Given the description of an element on the screen output the (x, y) to click on. 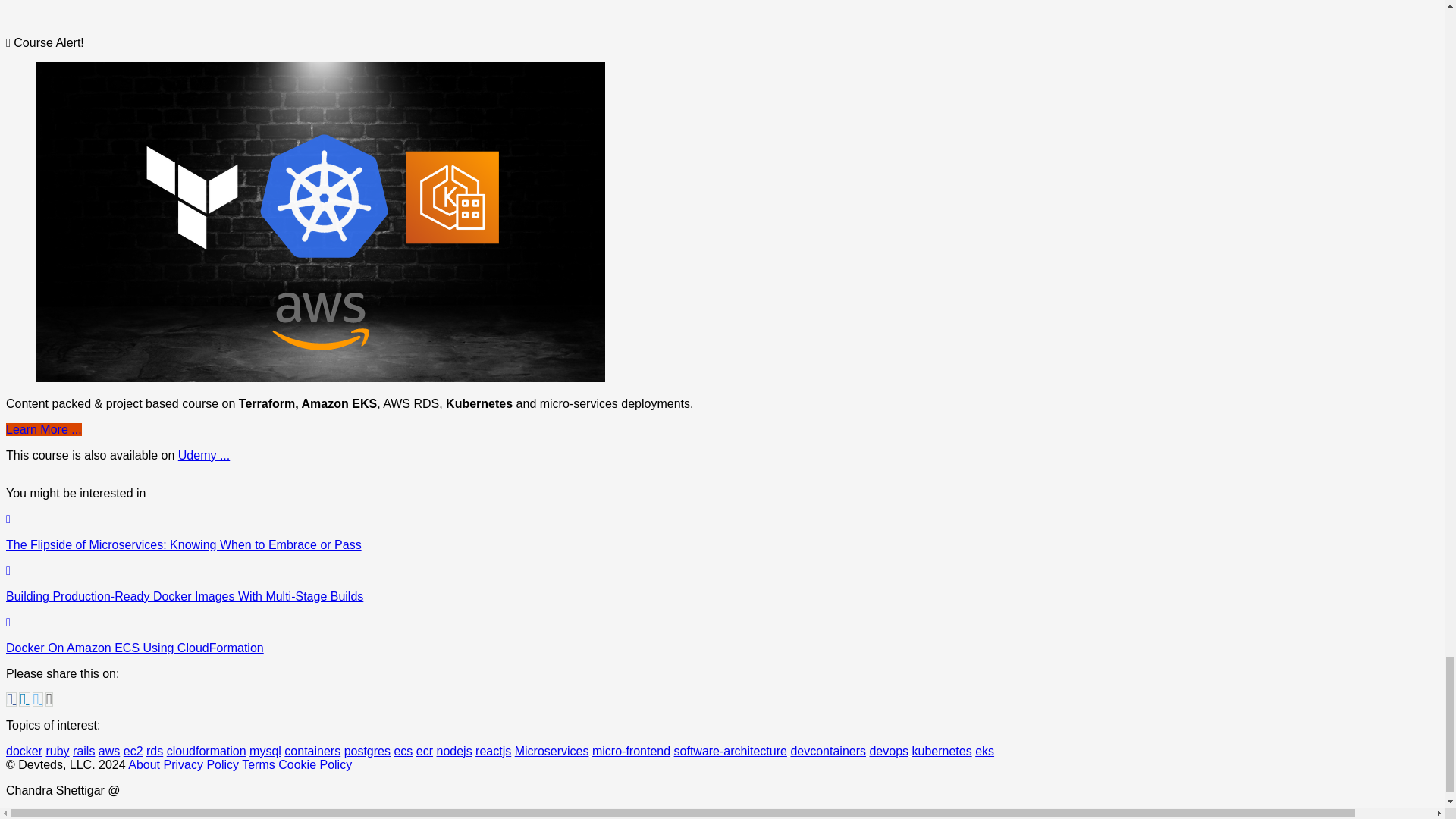
aws (109, 750)
Docker On Amazon ECS Using CloudFormation (499, 635)
rails (83, 750)
Udemy ... (203, 454)
Learn More ... (43, 429)
containers (311, 750)
docker (23, 750)
ruby (56, 750)
rds (155, 750)
cloudformation (206, 750)
ec2 (132, 750)
mysql (264, 750)
